Given the description of an element on the screen output the (x, y) to click on. 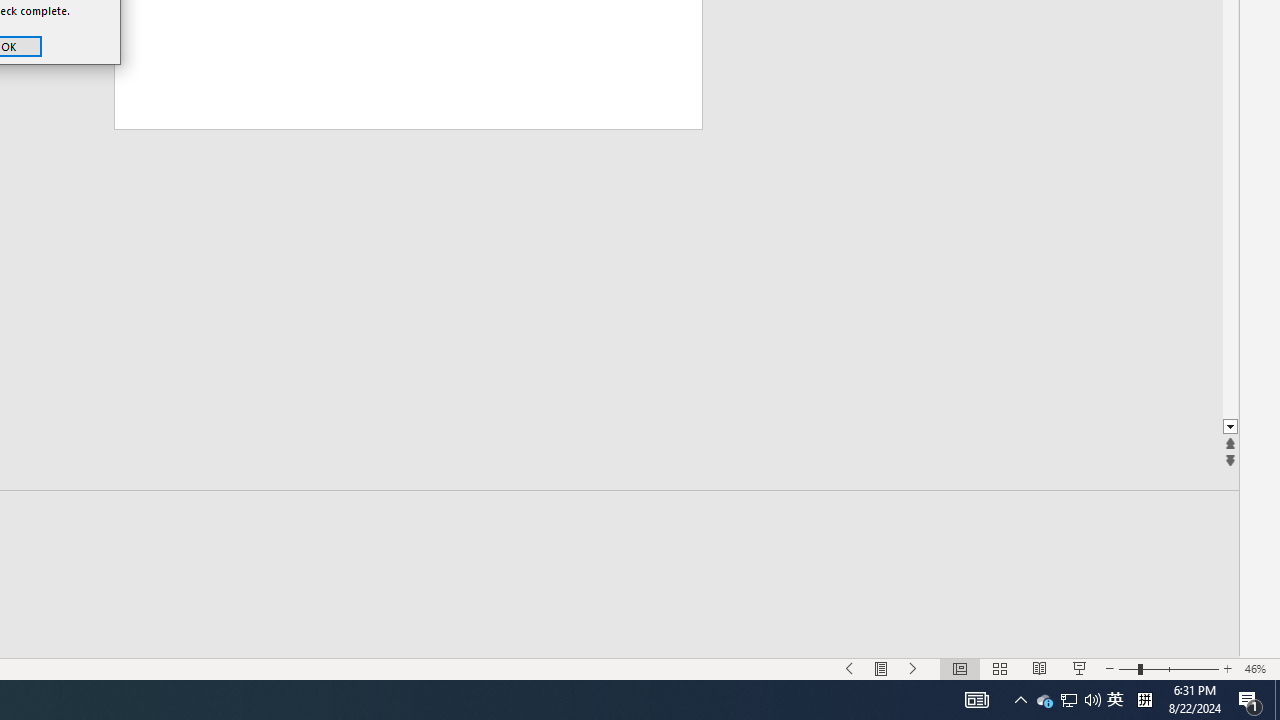
Line down (1044, 699)
Tray Input Indicator - Chinese (Simplified, China) (1230, 427)
Zoom (1144, 699)
Action Center, 1 new notification (1168, 668)
Zoom In (1250, 699)
AutomationID: 4105 (1227, 668)
Menu On (976, 699)
Notification Chevron (882, 668)
Normal (1020, 699)
Show desktop (959, 668)
User Promoted Notification Area (1277, 699)
Reading View (1068, 699)
